Given the description of an element on the screen output the (x, y) to click on. 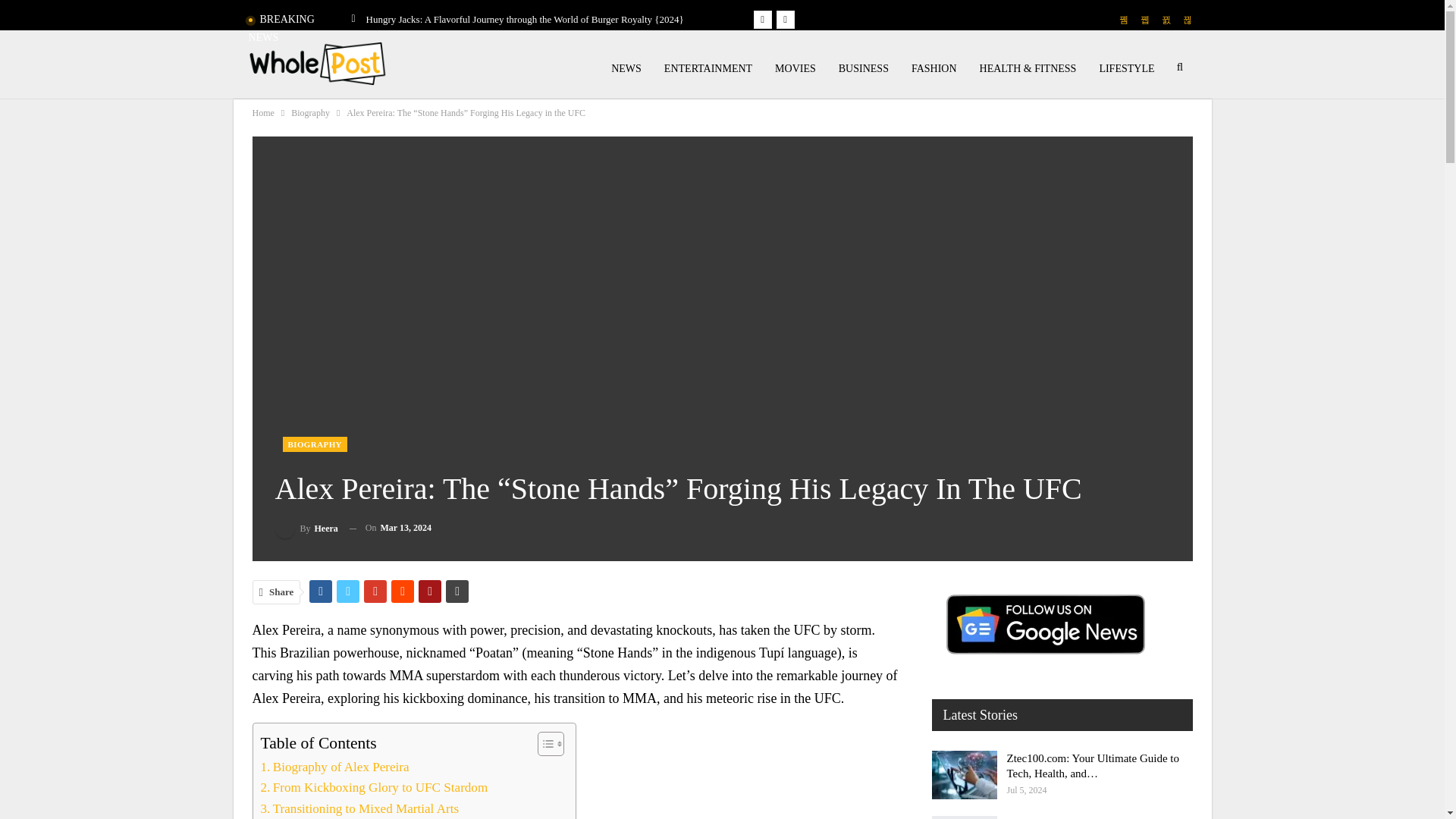
FASHION (933, 69)
Browse Author Articles (306, 527)
ENTERTAINMENT (707, 69)
By Heera (306, 527)
MOVIES (794, 69)
Biography of Alex Pereira (334, 766)
Biography (310, 112)
Biography of Alex Pereira (334, 766)
Transitioning to Mixed Martial Arts (360, 808)
Home (262, 112)
